Given the description of an element on the screen output the (x, y) to click on. 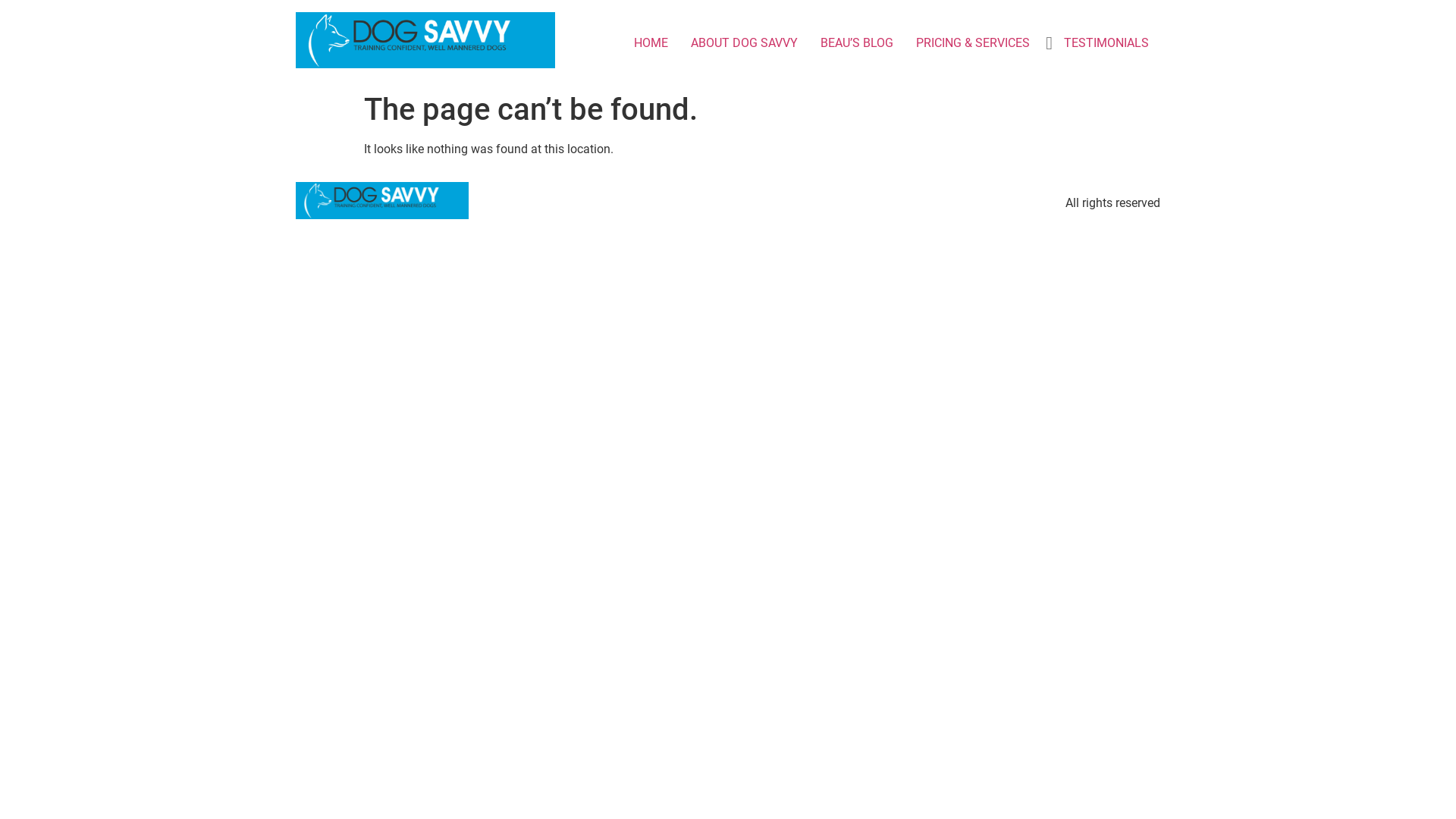
HOME Element type: text (650, 43)
TESTIMONIALS Element type: text (1106, 43)
PRICING & SERVICES Element type: text (972, 43)
ABOUT DOG SAVVY Element type: text (744, 43)
